Given the description of an element on the screen output the (x, y) to click on. 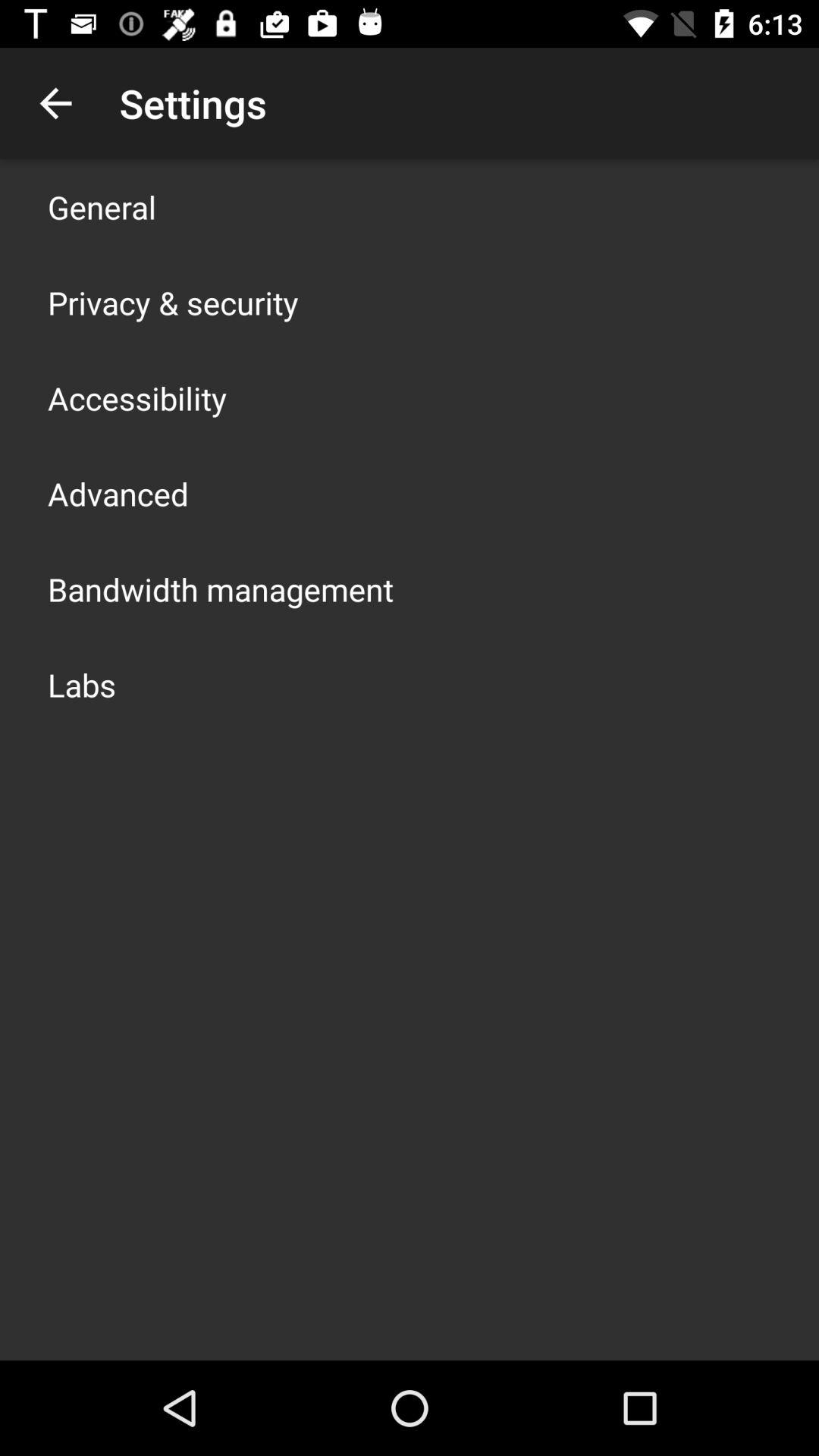
flip to advanced item (117, 493)
